Given the description of an element on the screen output the (x, y) to click on. 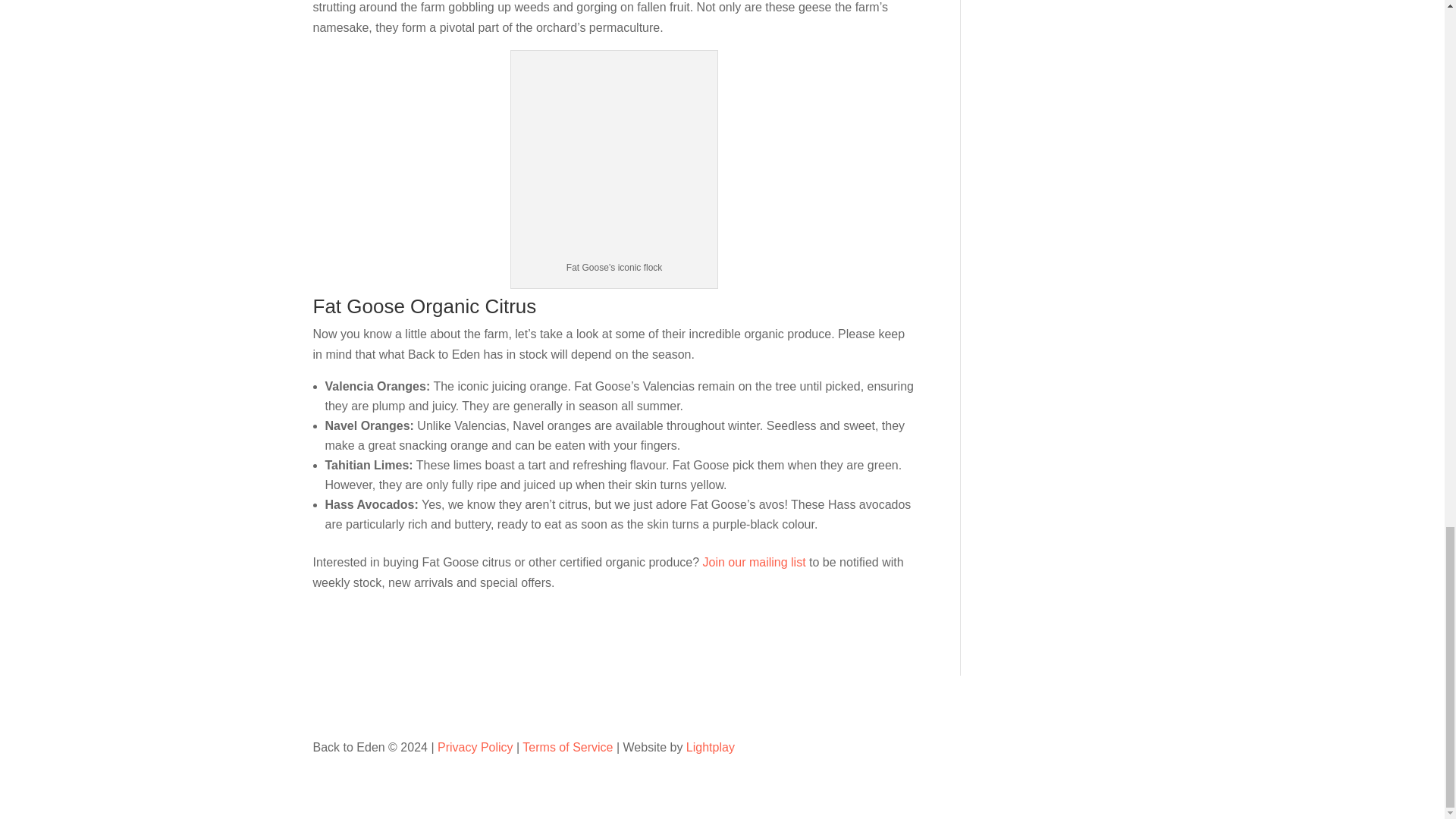
Join our mailing list (752, 562)
Lightplay (710, 746)
Privacy Policy (475, 746)
Terms of Service (567, 746)
